Given the description of an element on the screen output the (x, y) to click on. 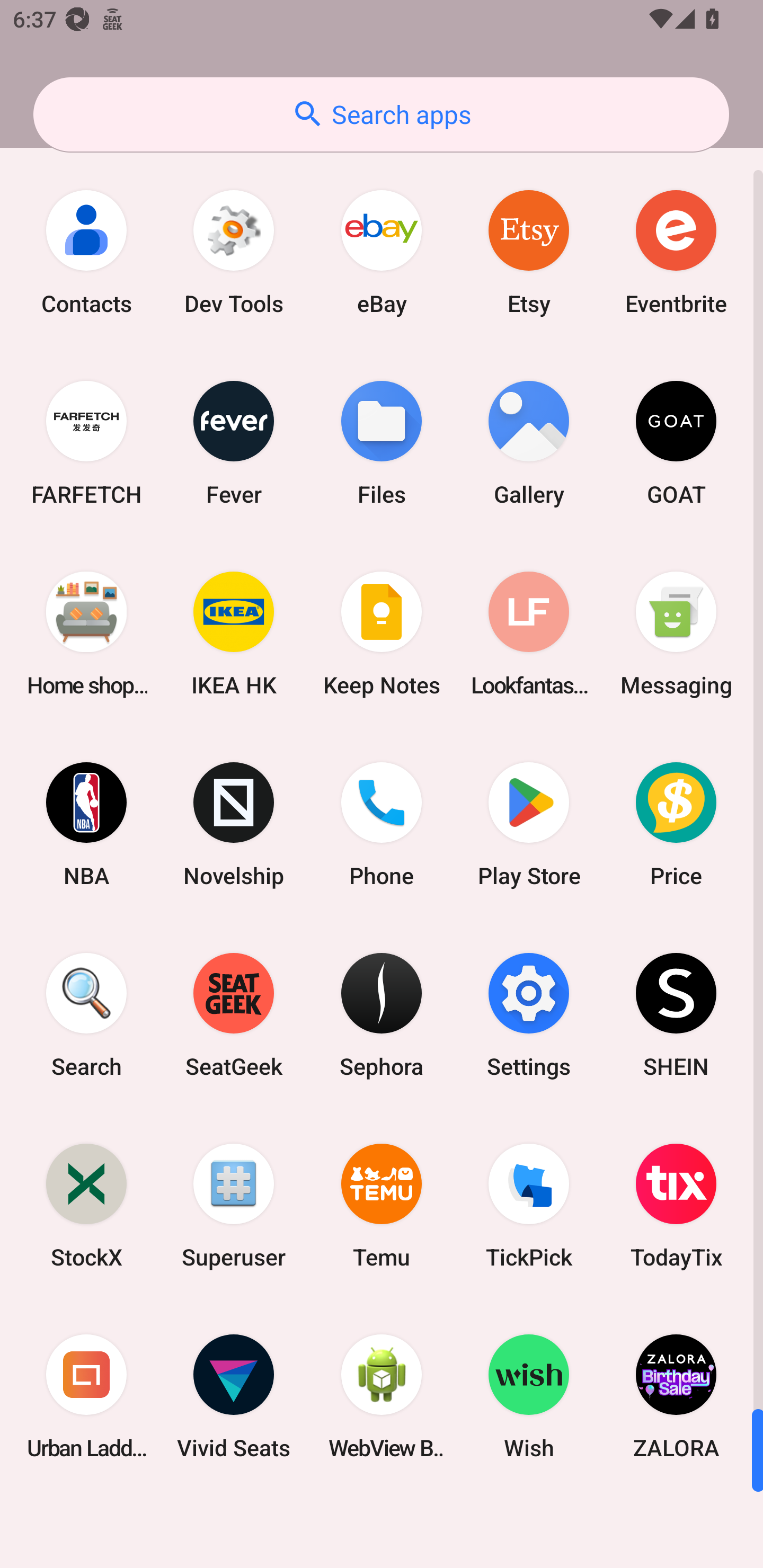
  Search apps (381, 114)
Contacts (86, 252)
Dev Tools (233, 252)
eBay (381, 252)
Etsy (528, 252)
Eventbrite (676, 252)
FARFETCH (86, 442)
Fever (233, 442)
Files (381, 442)
Gallery (528, 442)
GOAT (676, 442)
Home shopping (86, 633)
IKEA HK (233, 633)
Keep Notes (381, 633)
Lookfantastic (528, 633)
Messaging (676, 633)
NBA (86, 823)
Novelship (233, 823)
Phone (381, 823)
Play Store (528, 823)
Price (676, 823)
Search (86, 1014)
SeatGeek (233, 1014)
Sephora (381, 1014)
Settings (528, 1014)
SHEIN (676, 1014)
StockX (86, 1205)
Superuser (233, 1205)
Temu (381, 1205)
TickPick (528, 1205)
TodayTix (676, 1205)
Urban Ladder (86, 1396)
Vivid Seats (233, 1396)
WebView Browser Tester (381, 1396)
Wish (528, 1396)
ZALORA (676, 1396)
